Given the description of an element on the screen output the (x, y) to click on. 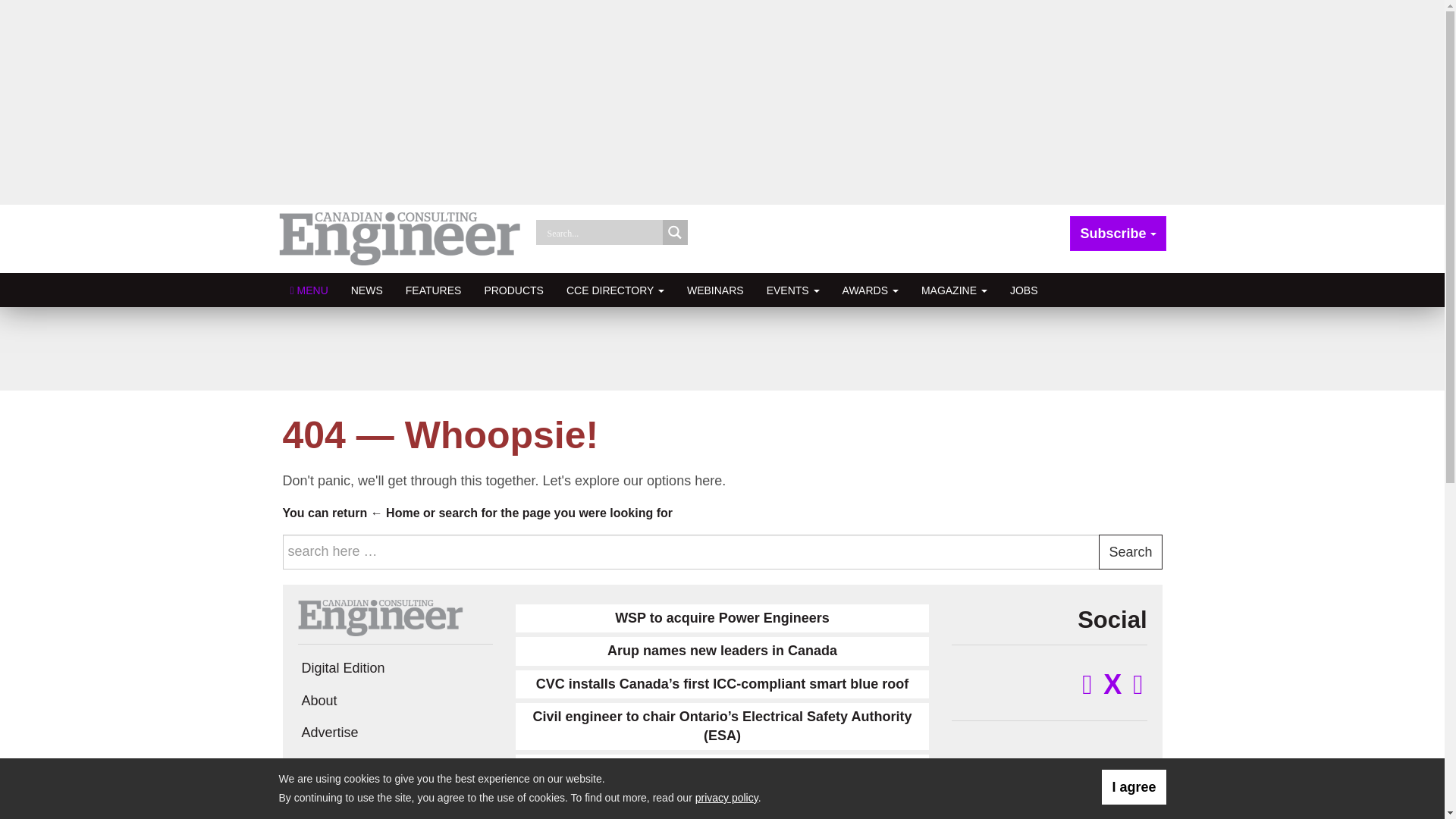
Home (395, 512)
Canadian Consulting Engineer (400, 237)
PRODUCTS (512, 289)
FEATURES (433, 289)
EVENTS (793, 289)
AWARDS (870, 289)
JOBS (1023, 289)
MENU (309, 289)
Click to show site navigation (309, 289)
MAGAZINE (954, 289)
